Given the description of an element on the screen output the (x, y) to click on. 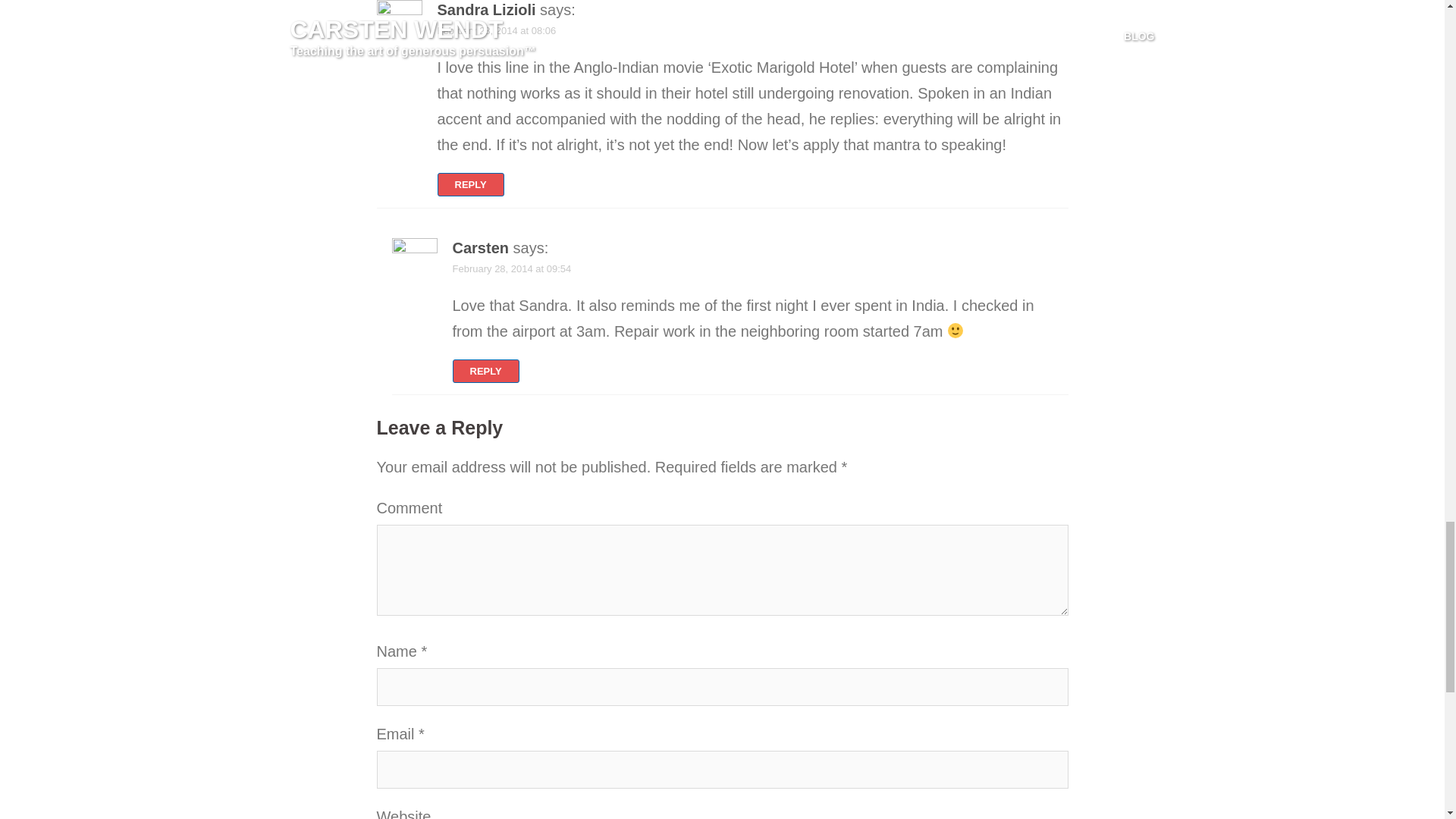
February 28, 2014 at 09:54 (510, 268)
REPLY (485, 371)
Sandra Lizioli (485, 9)
Carsten (479, 247)
February 28, 2014 at 08:06 (496, 30)
REPLY (470, 184)
